Given the description of an element on the screen output the (x, y) to click on. 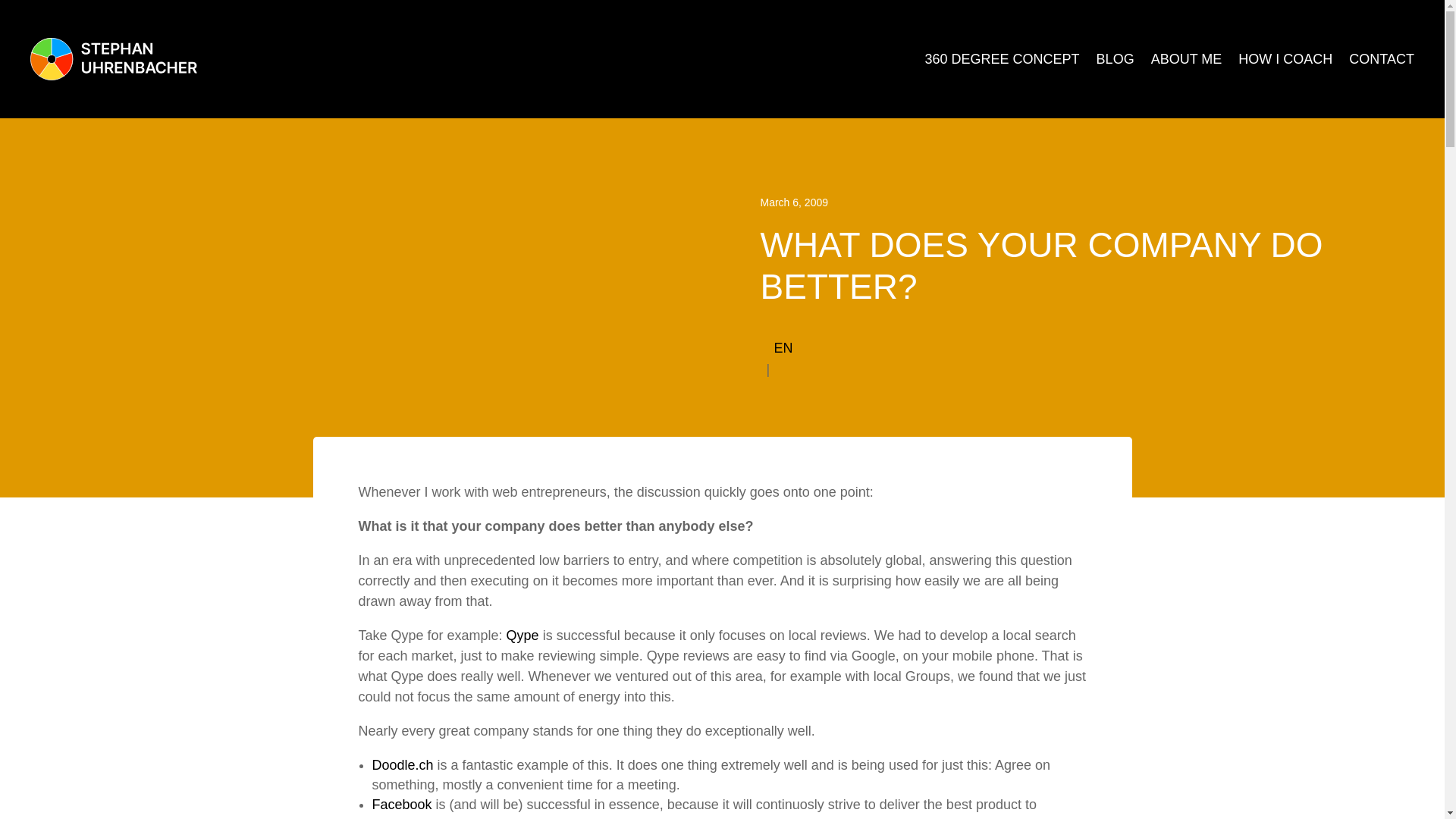
Doodle.ch (401, 765)
360 DEGREE CONCEPT (1002, 58)
ABOUT ME (1187, 58)
Facebook (400, 804)
CONTACT (1381, 58)
HOW I COACH (1285, 58)
EN (782, 347)
Qype (522, 635)
